Given the description of an element on the screen output the (x, y) to click on. 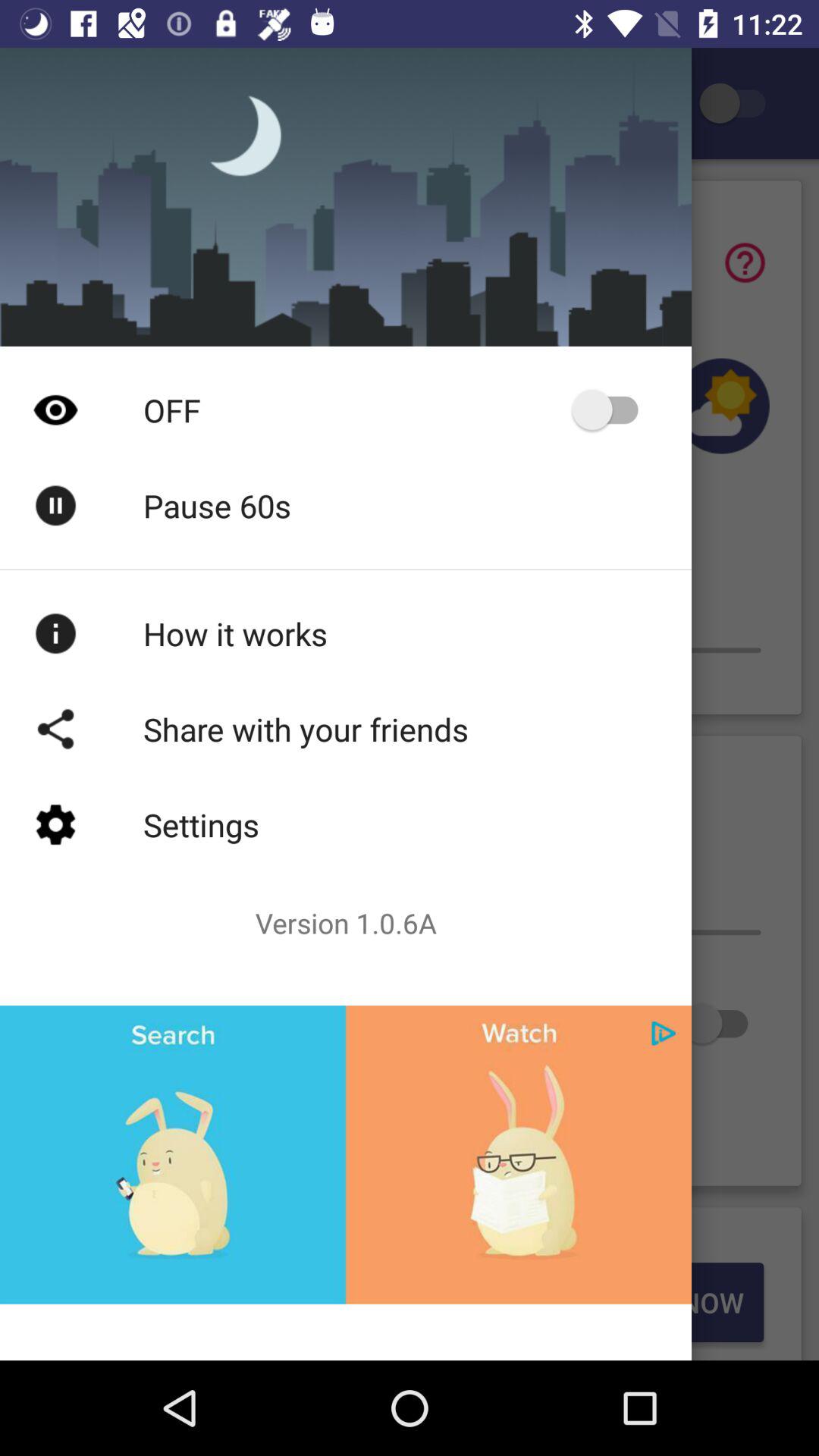
go next (663, 1033)
